Given the description of an element on the screen output the (x, y) to click on. 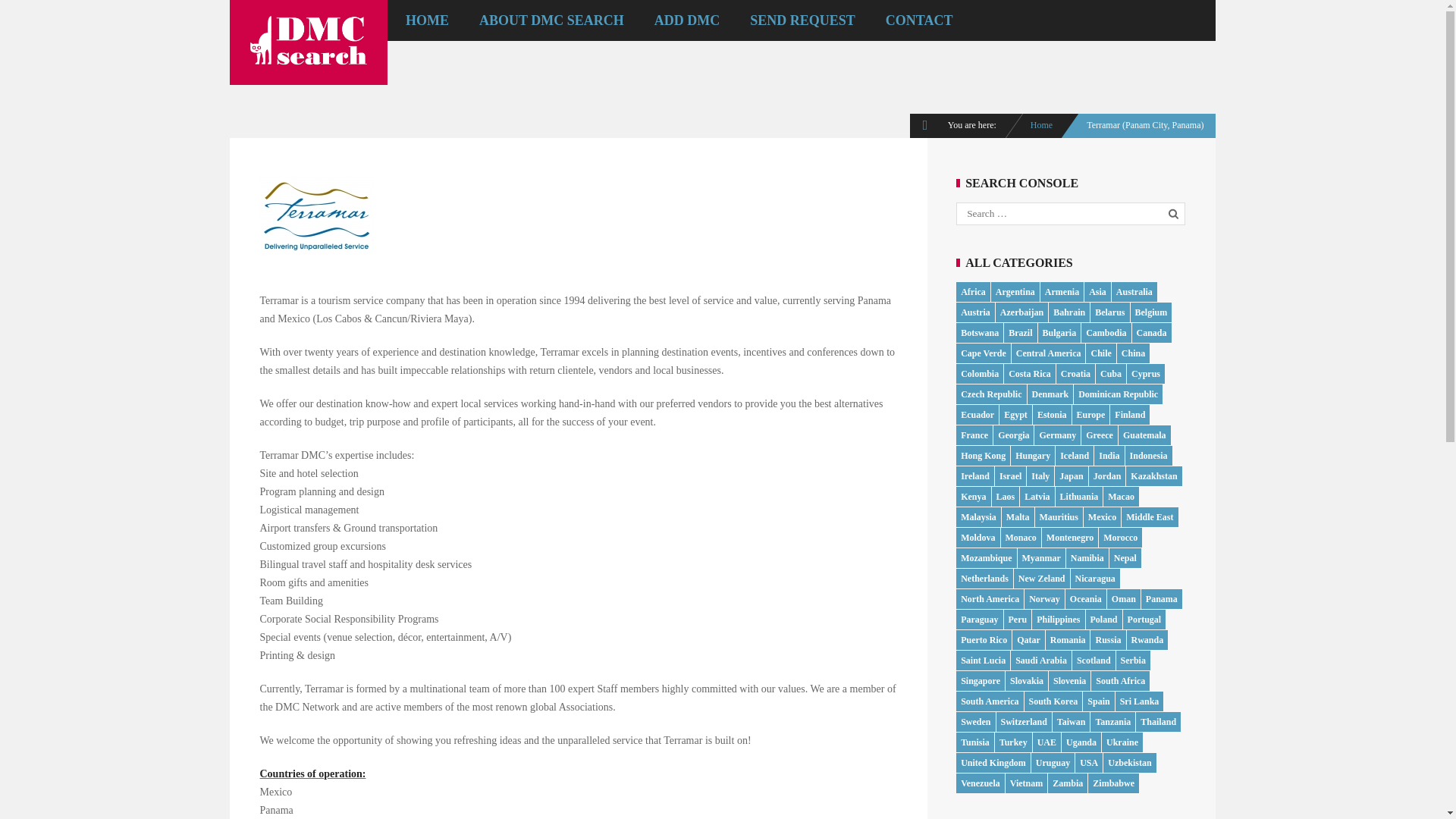
Colombia (979, 373)
Search for: (1060, 213)
Azerbaijan (1021, 312)
Asia (1097, 291)
Cambodia (1105, 332)
Austria (975, 312)
Search (1174, 212)
Dominican Republic (1117, 394)
HOME (427, 20)
Belarus (1109, 312)
